Given the description of an element on the screen output the (x, y) to click on. 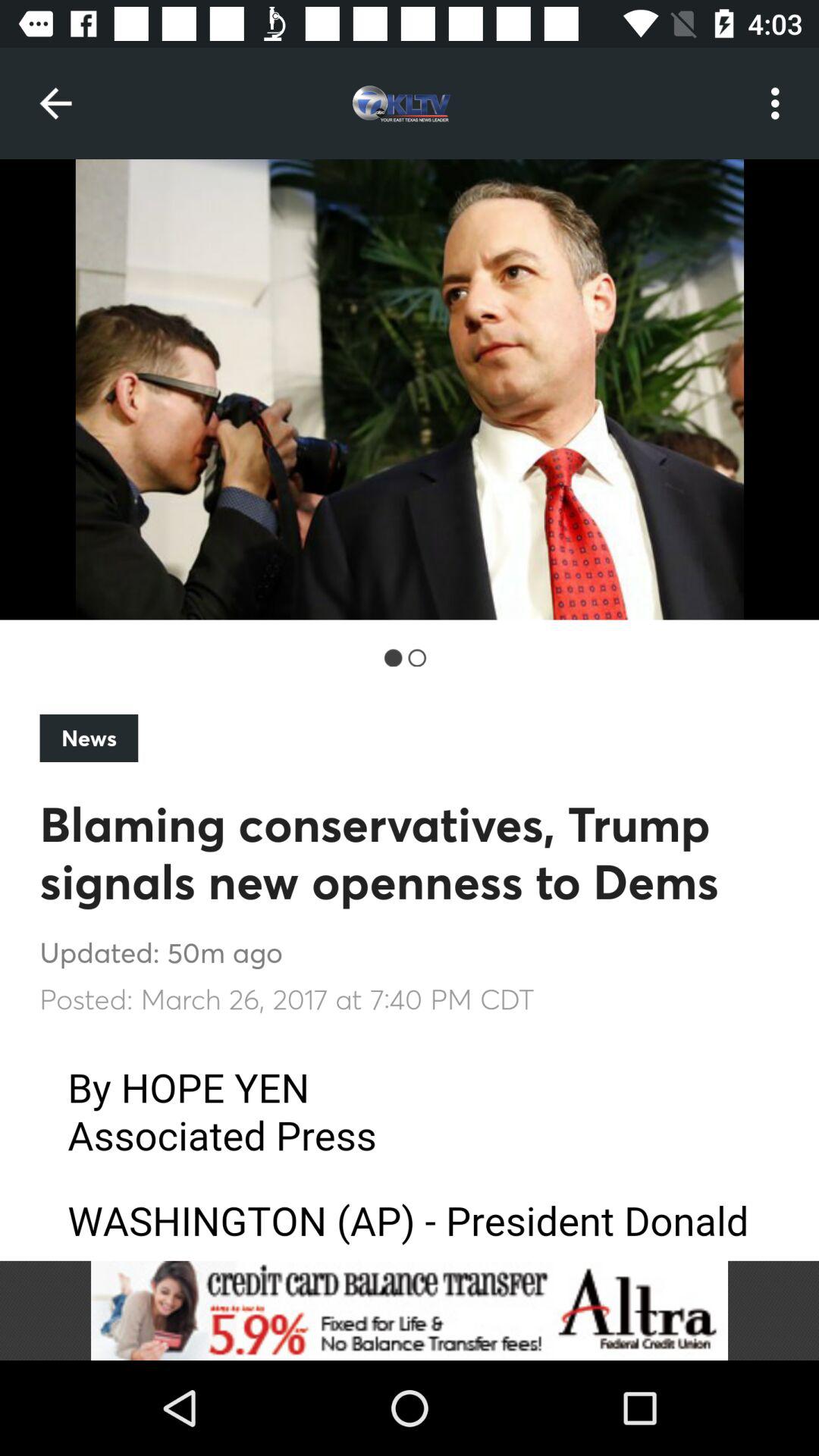
advertisement (409, 1310)
